Given the description of an element on the screen output the (x, y) to click on. 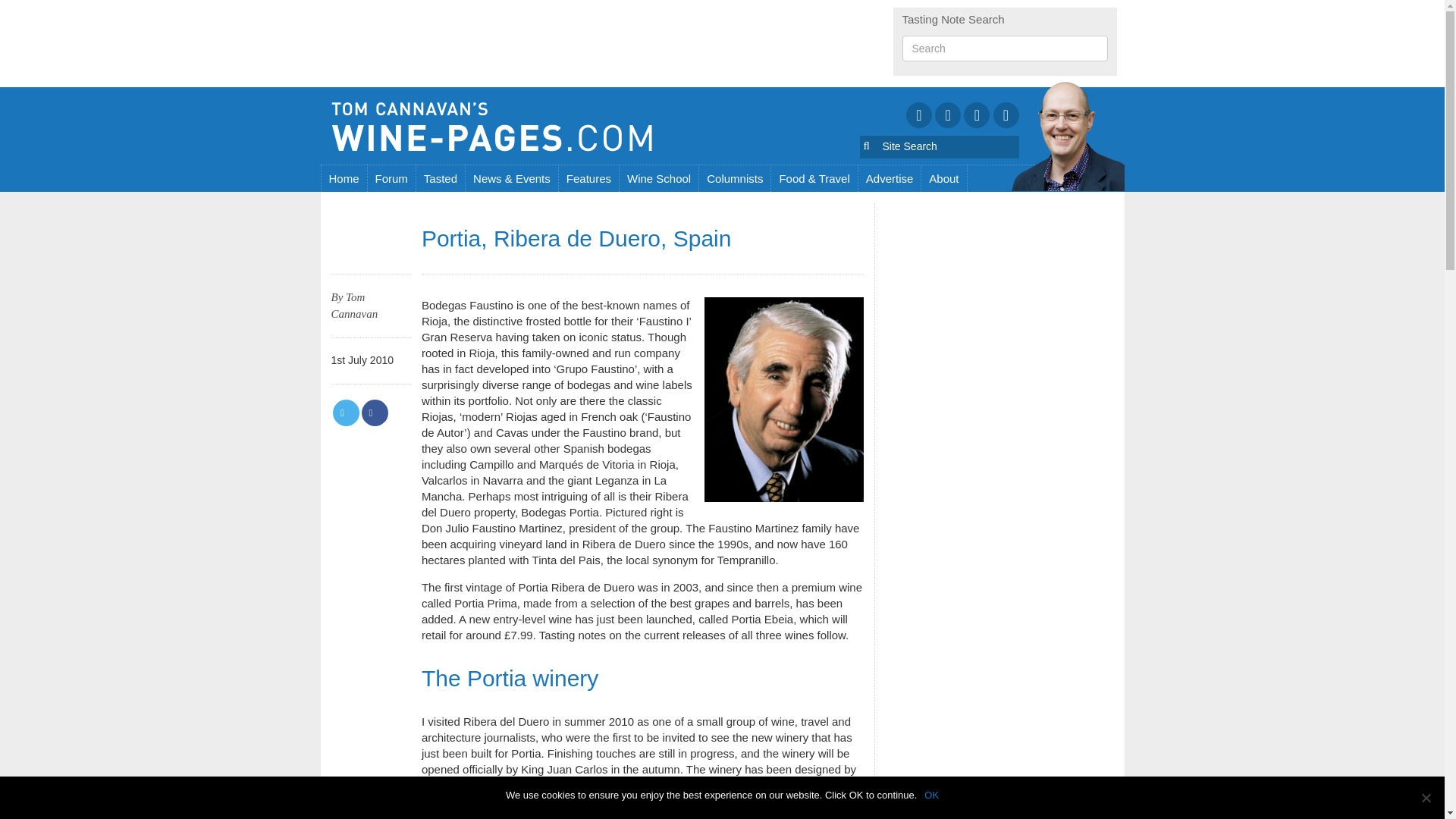
Share on Facebook (374, 412)
Home (344, 178)
No (1425, 797)
Tweet on Twitter (346, 412)
Columnists (734, 178)
Tasted (440, 178)
Forum (392, 178)
Features (589, 178)
Wine School (659, 178)
